Given the description of an element on the screen output the (x, y) to click on. 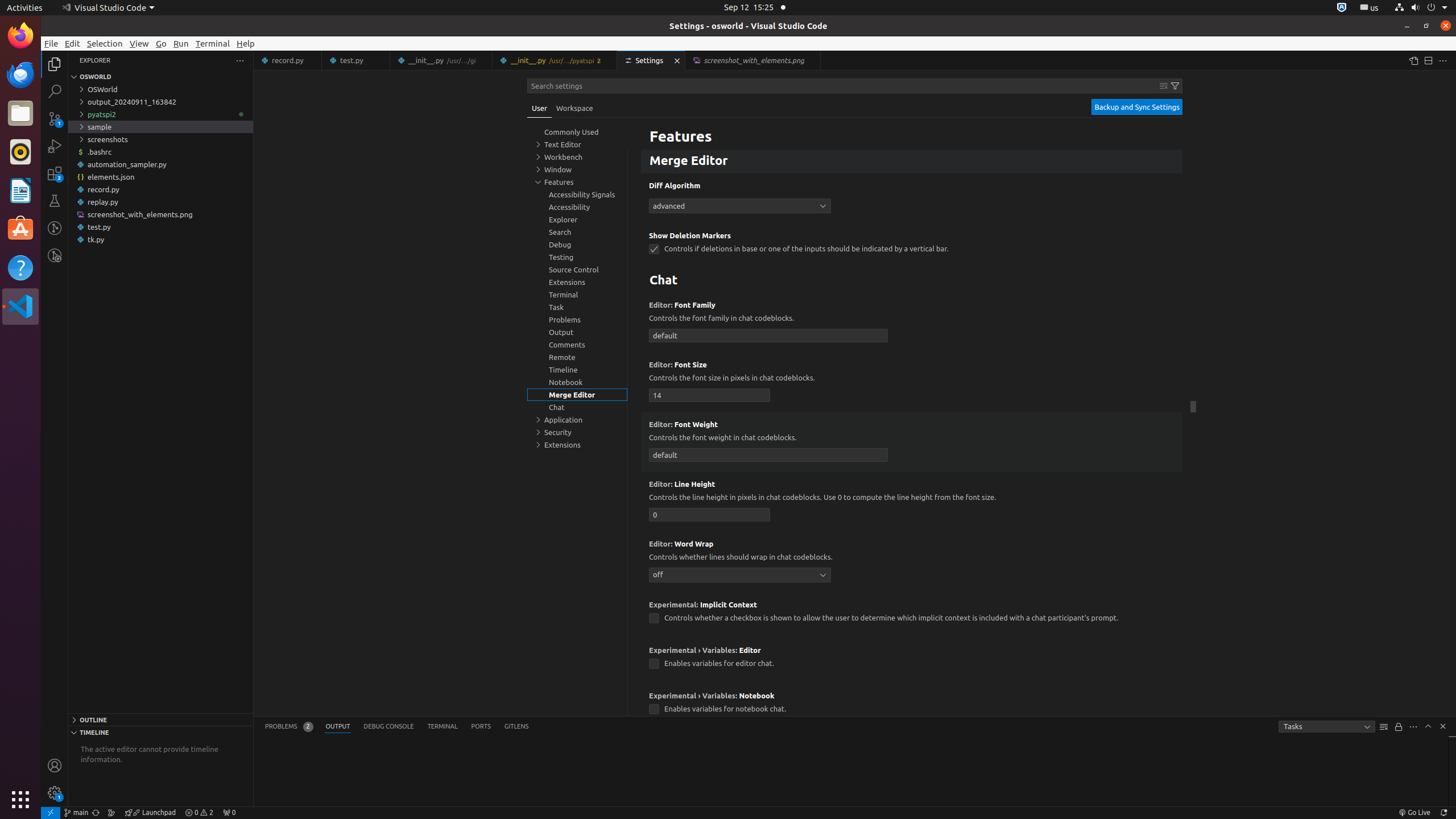
 Show Deletion Markers. Controls if deletions in base or one of the inputs should be indicated by a vertical bar.  Element type: tree-item (911, 246)
GitLens Inspect Element type: page-tab (54, 255)
Terminal (Ctrl+`) Element type: page-tab (442, 726)
Chat, group Element type: tree-item (577, 406)
